Given the description of an element on the screen output the (x, y) to click on. 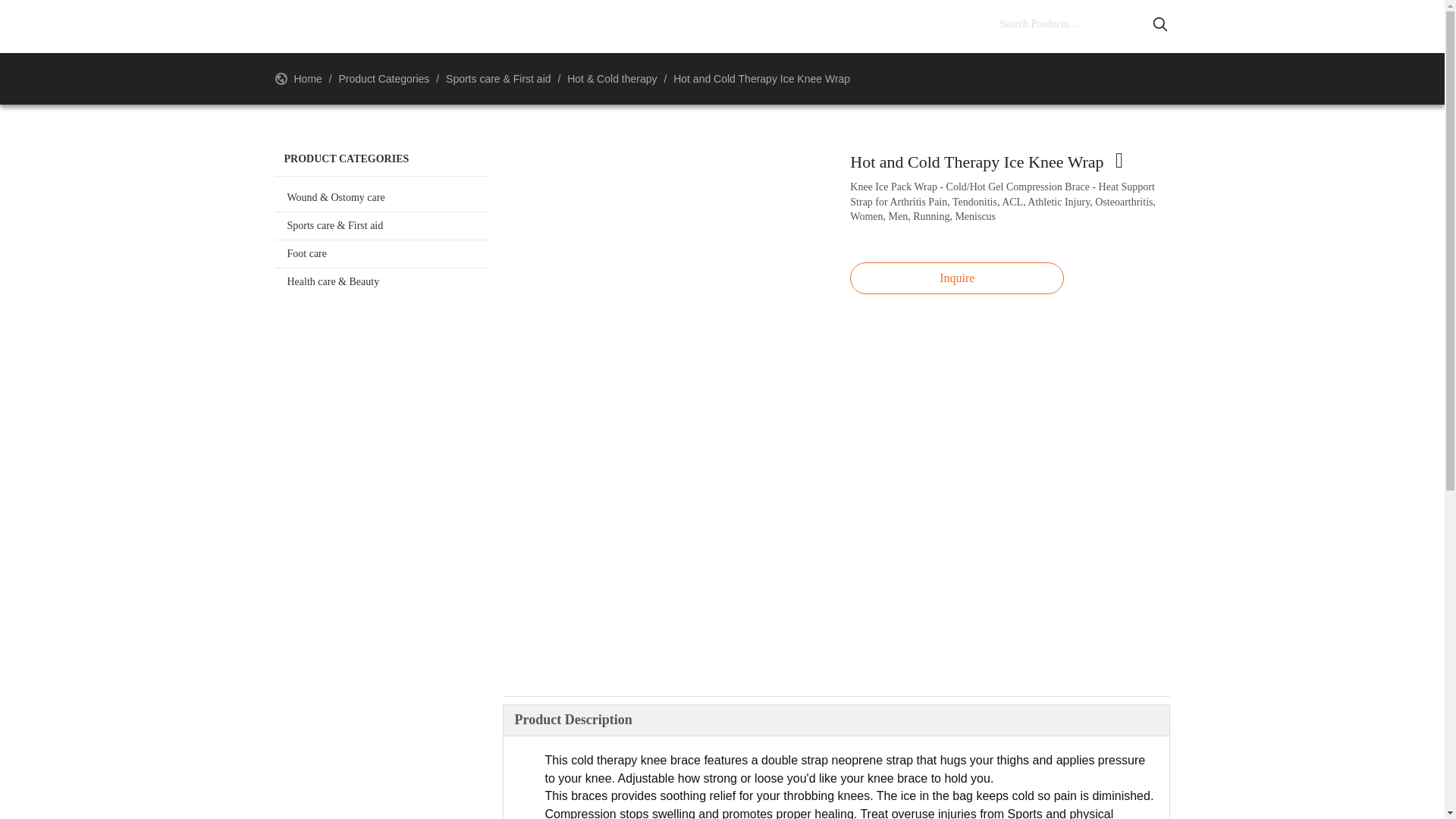
Youtube (1312, 26)
Facebook (1229, 26)
Contact Us (854, 26)
Linkedin (1270, 26)
Products (590, 26)
Brands (716, 26)
About Us (452, 26)
Home (309, 78)
Home (326, 26)
logo (159, 26)
